Given the description of an element on the screen output the (x, y) to click on. 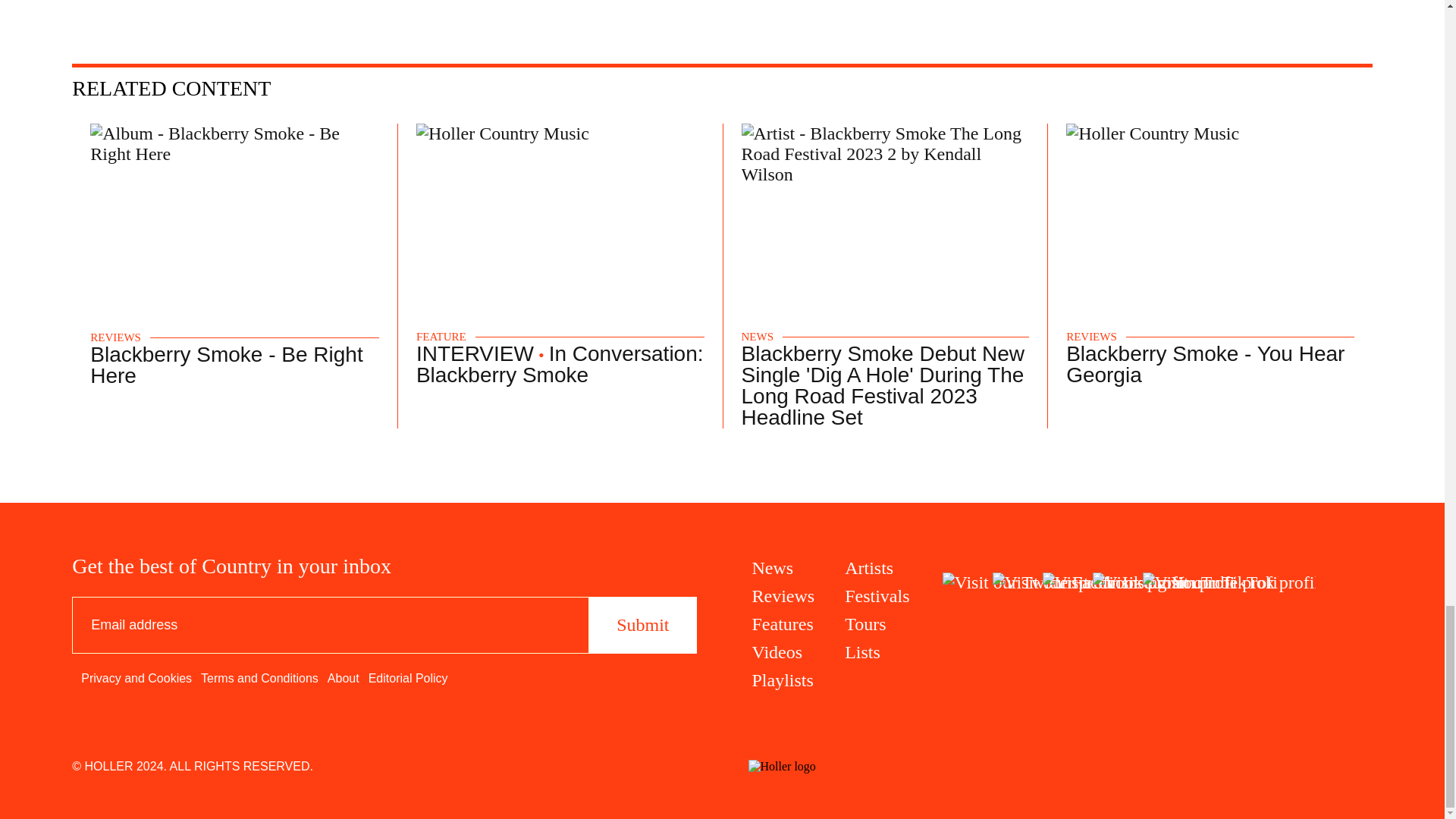
REVIEWS (115, 337)
In Conversation: Blackberry Smoke (559, 364)
REVIEWS (1090, 336)
Terms and Conditions (259, 678)
About (343, 678)
FEATURE (440, 336)
INTERVIEW (475, 353)
Blackberry Smoke - You Hear Georgia (1204, 364)
Blackberry Smoke - Be Right Here (226, 365)
